Given the description of an element on the screen output the (x, y) to click on. 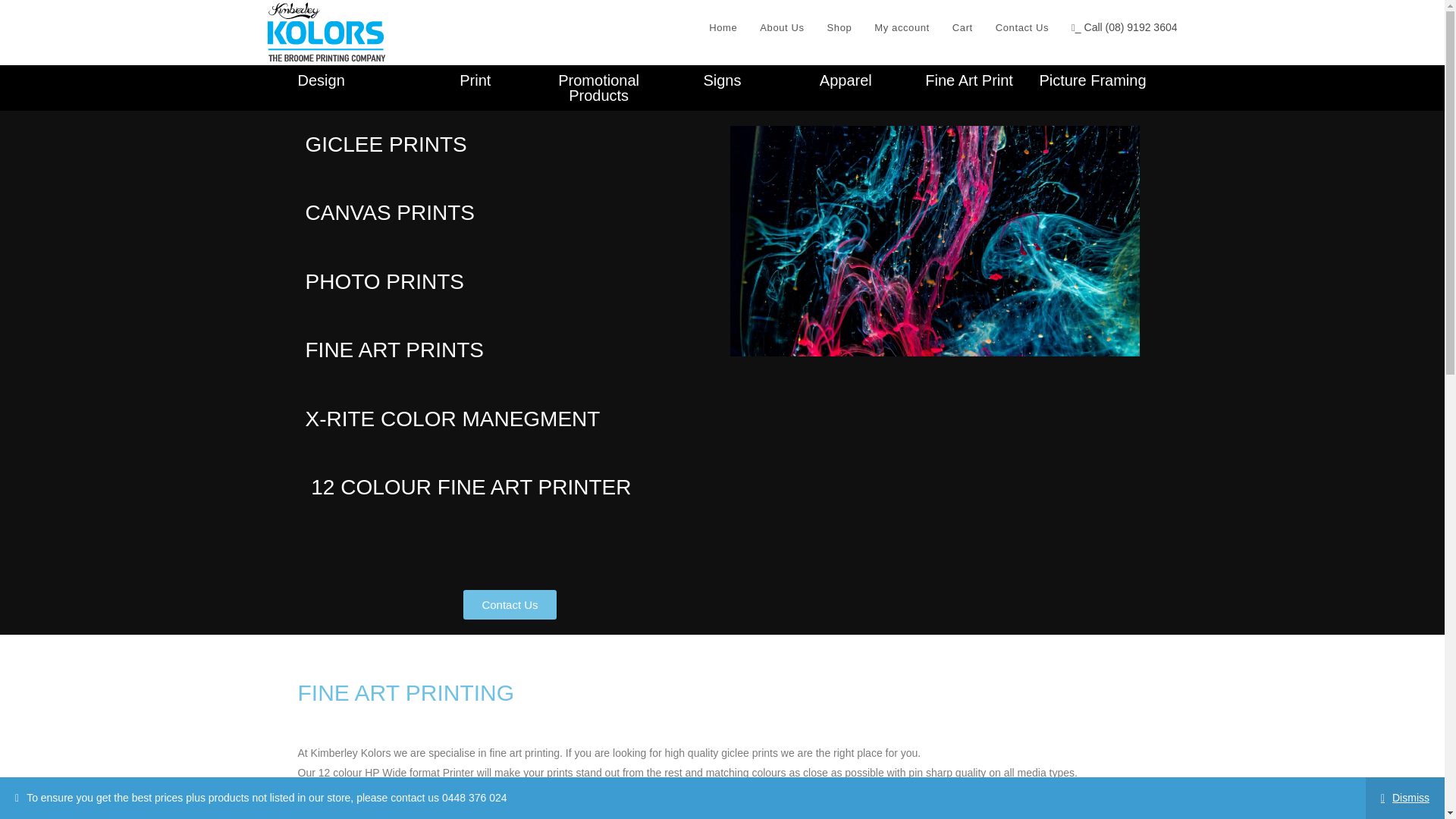
Signs (722, 80)
Contact Us (1021, 28)
Promotional Products (598, 88)
Contact Us (509, 604)
Home (722, 28)
About Us (781, 28)
Design (320, 71)
Print (475, 80)
Apparel (845, 80)
My account (901, 28)
